Given the description of an element on the screen output the (x, y) to click on. 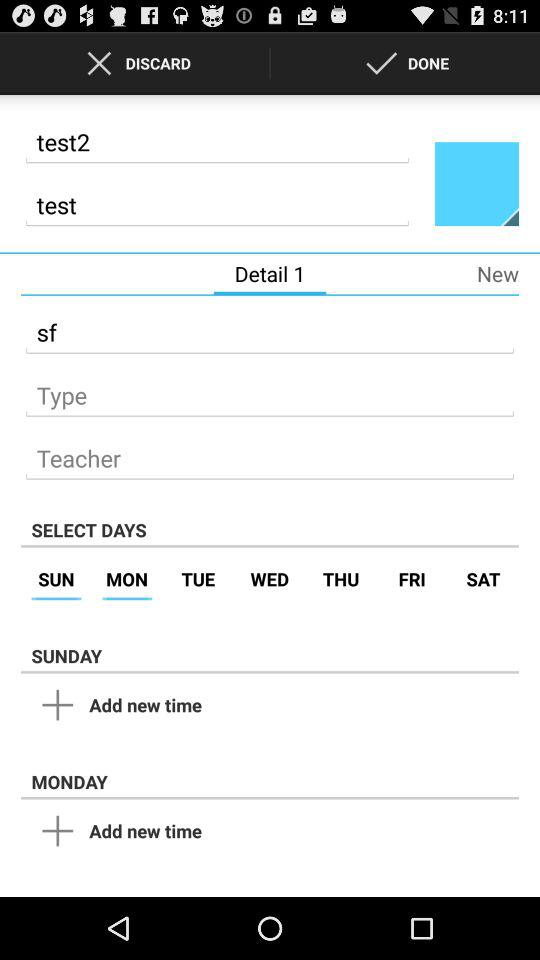
type of class (270, 389)
